Given the description of an element on the screen output the (x, y) to click on. 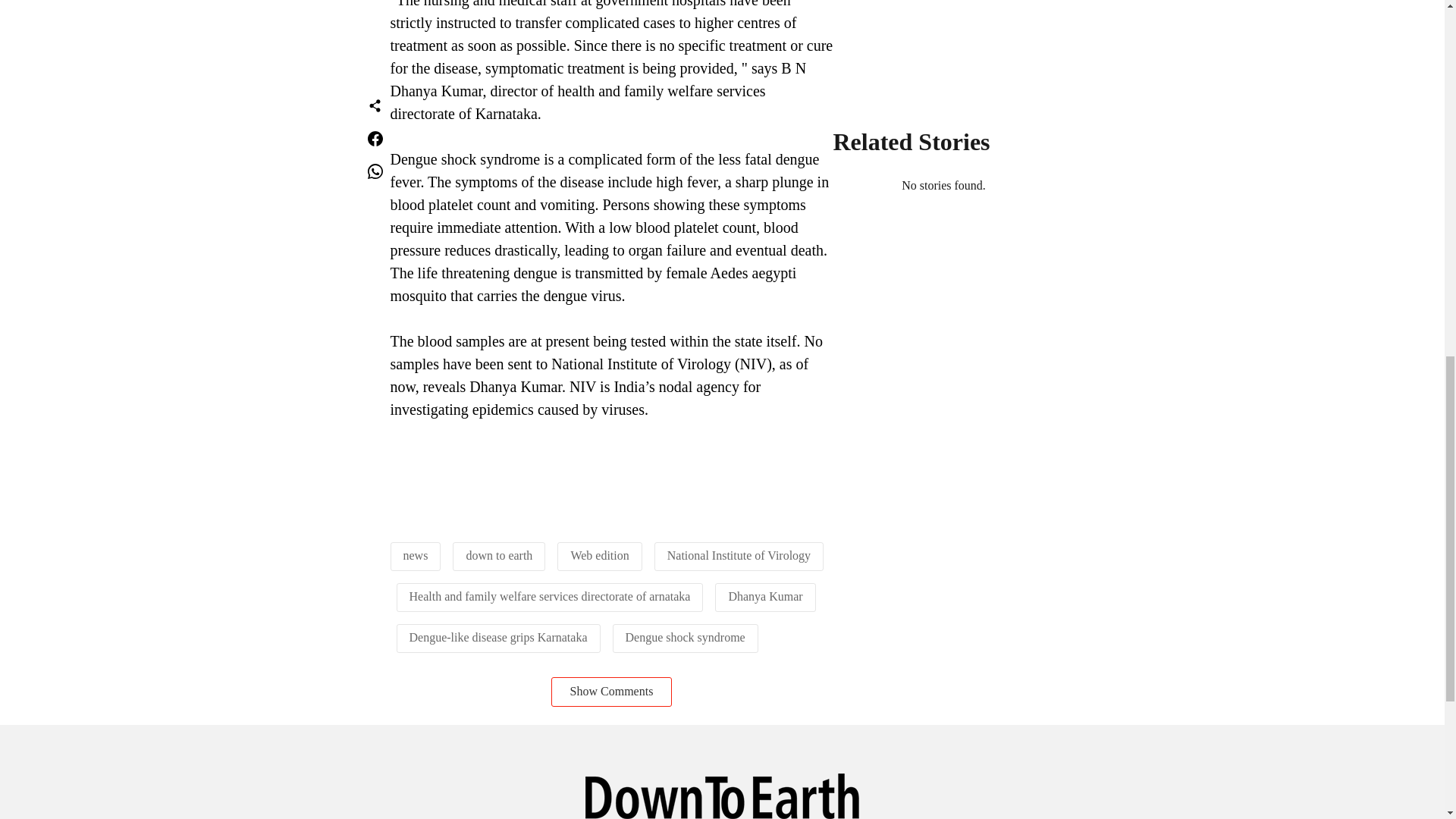
Dhanya Kumar (765, 595)
Web edition (599, 554)
down to earth (498, 554)
news (415, 554)
National Institute of Virology (738, 554)
Health and family welfare services directorate of arnataka (549, 595)
